Given the description of an element on the screen output the (x, y) to click on. 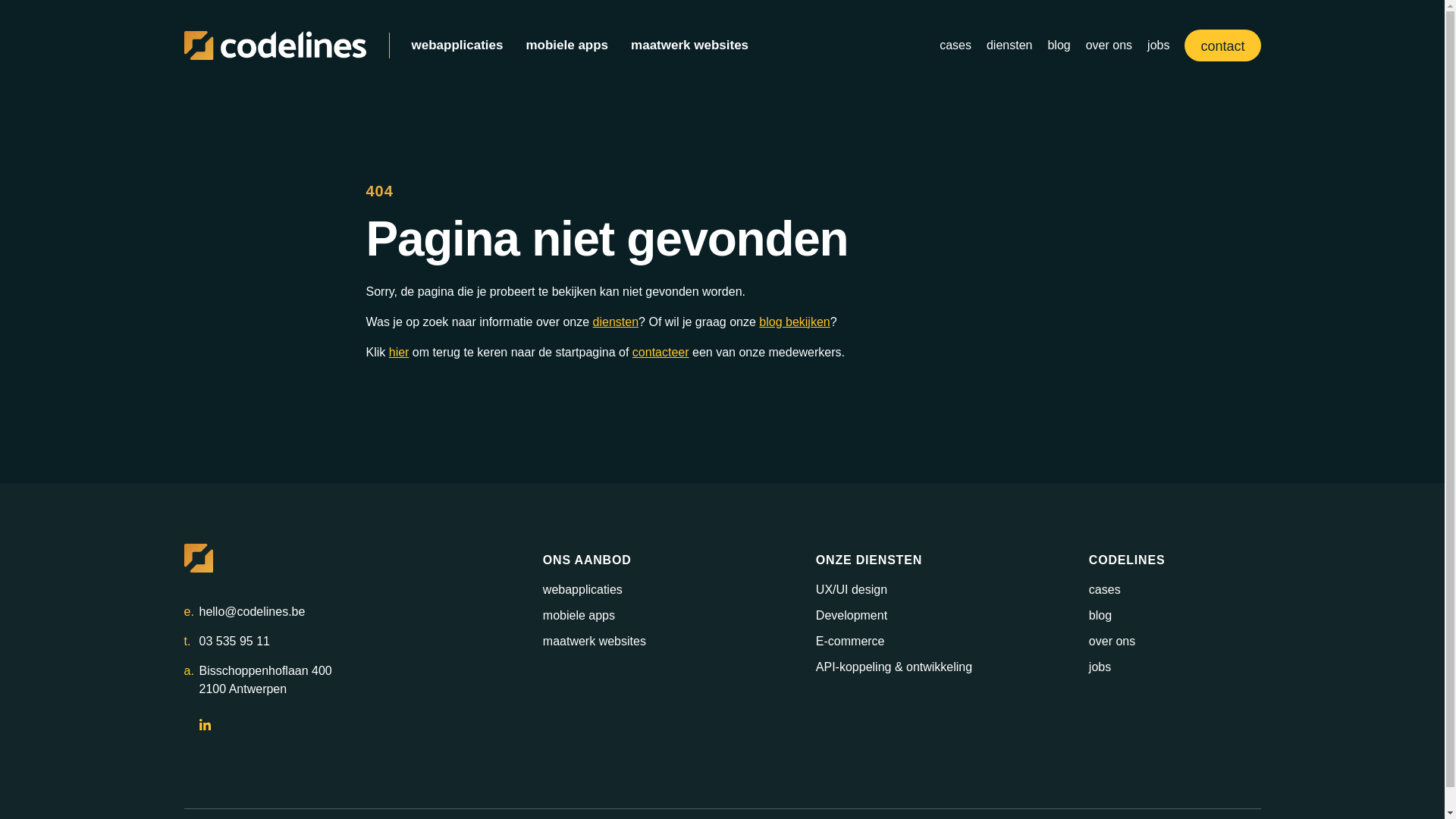
hello@codelines.be Element type: text (251, 611)
03 535 95 11 Element type: text (233, 641)
blog bekijken Element type: text (794, 321)
cases Element type: text (955, 45)
mobiele apps Element type: text (578, 614)
maatwerk websites Element type: text (594, 640)
over ons Element type: text (1108, 45)
over ons Element type: text (1111, 640)
contact Element type: text (1222, 45)
diensten Element type: text (1009, 45)
Development Element type: text (851, 614)
blog Element type: text (1058, 45)
hier Element type: text (399, 351)
jobs Element type: text (1158, 45)
E-commerce Element type: text (849, 640)
maatwerk websites Element type: text (689, 45)
diensten Element type: text (616, 321)
cases Element type: text (1104, 589)
blog Element type: text (1099, 614)
mobiele apps Element type: text (566, 45)
contacteer Element type: text (660, 351)
API-koppeling & ontwikkeling Element type: text (893, 666)
UX/UI design Element type: text (851, 589)
webapplicaties Element type: text (582, 589)
webapplicaties Element type: text (456, 45)
jobs Element type: text (1099, 666)
